Given the description of an element on the screen output the (x, y) to click on. 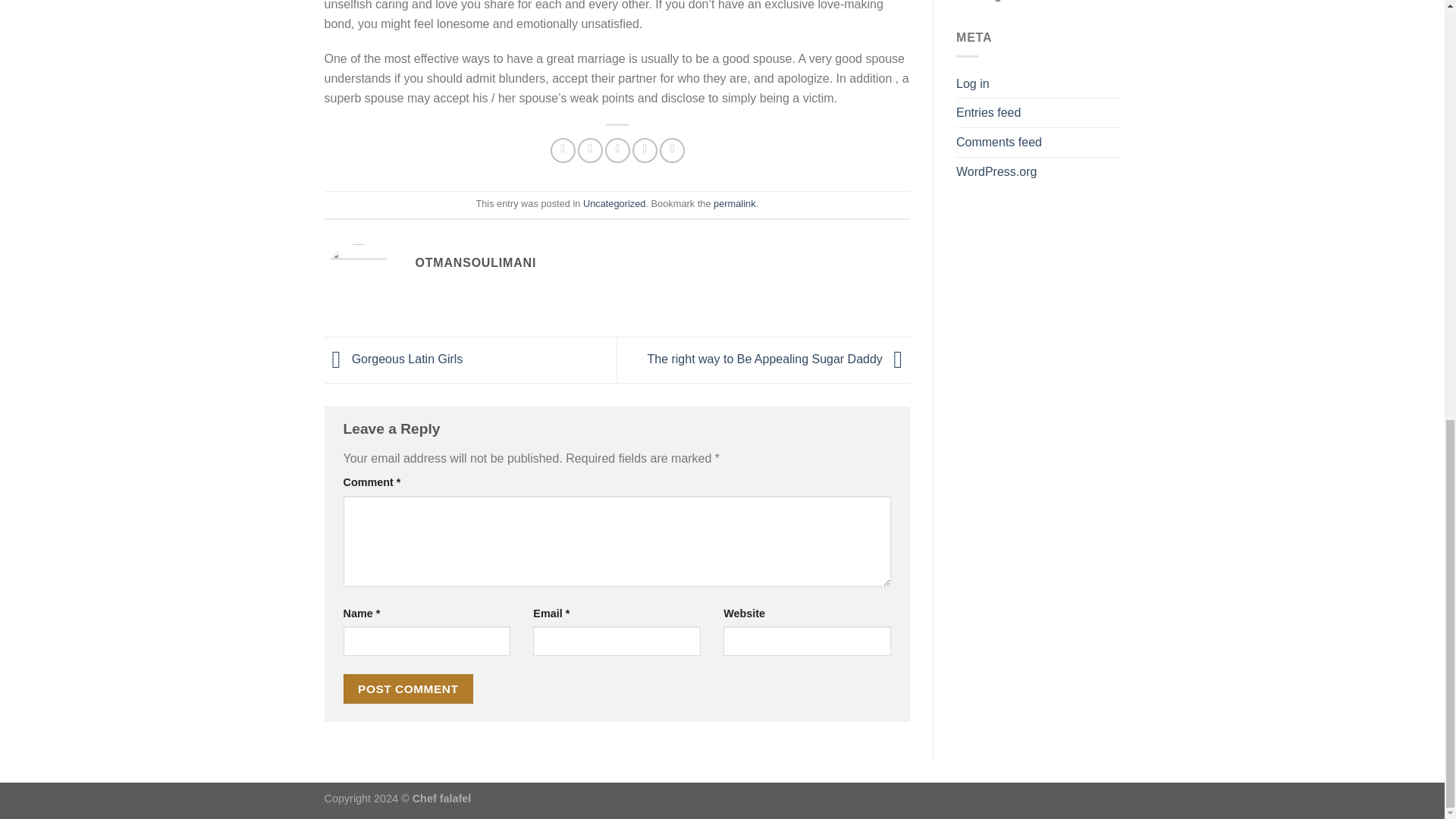
Post Comment (407, 688)
Email to a Friend (617, 150)
Post Comment (407, 688)
The right way to Be Appealing Sugar Daddy (778, 358)
Uncategorized (614, 203)
Share on Facebook (562, 150)
Pin on Pinterest (644, 150)
Permalink to How to Have a Good Marriage (734, 203)
permalink (734, 203)
Share on LinkedIn (671, 150)
